Given the description of an element on the screen output the (x, y) to click on. 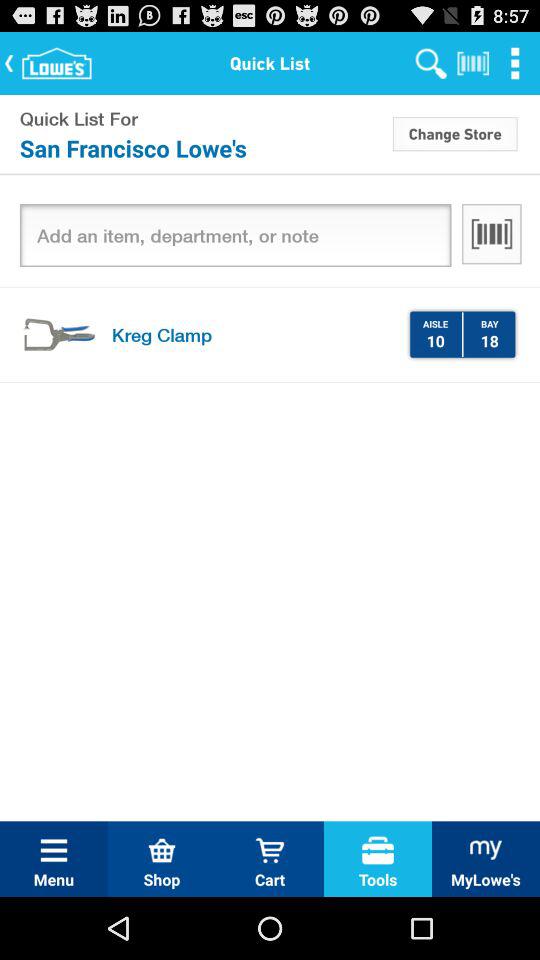
launch the item above the change store icon (515, 62)
